Given the description of an element on the screen output the (x, y) to click on. 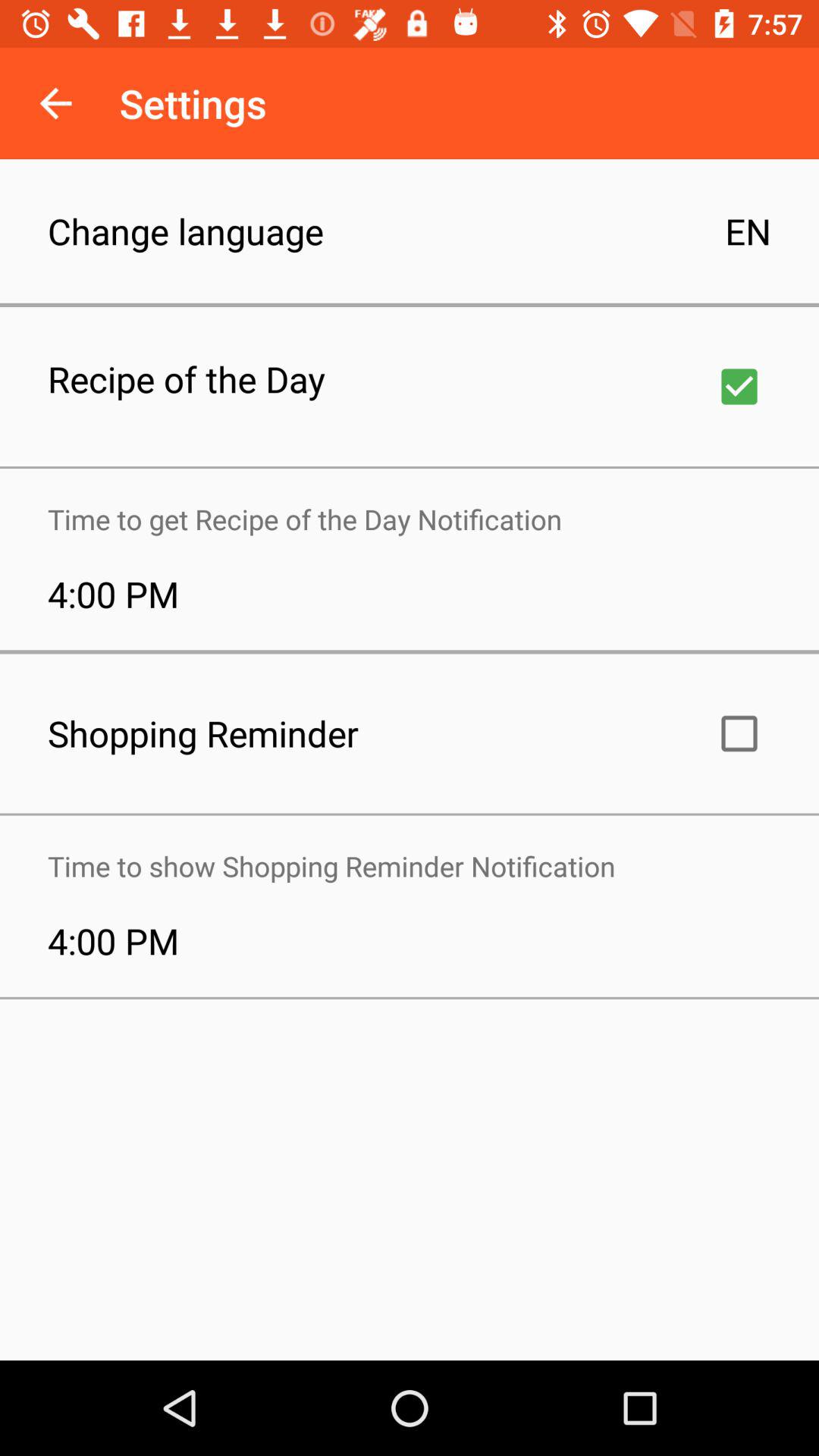
turn off item next to settings app (55, 103)
